Given the description of an element on the screen output the (x, y) to click on. 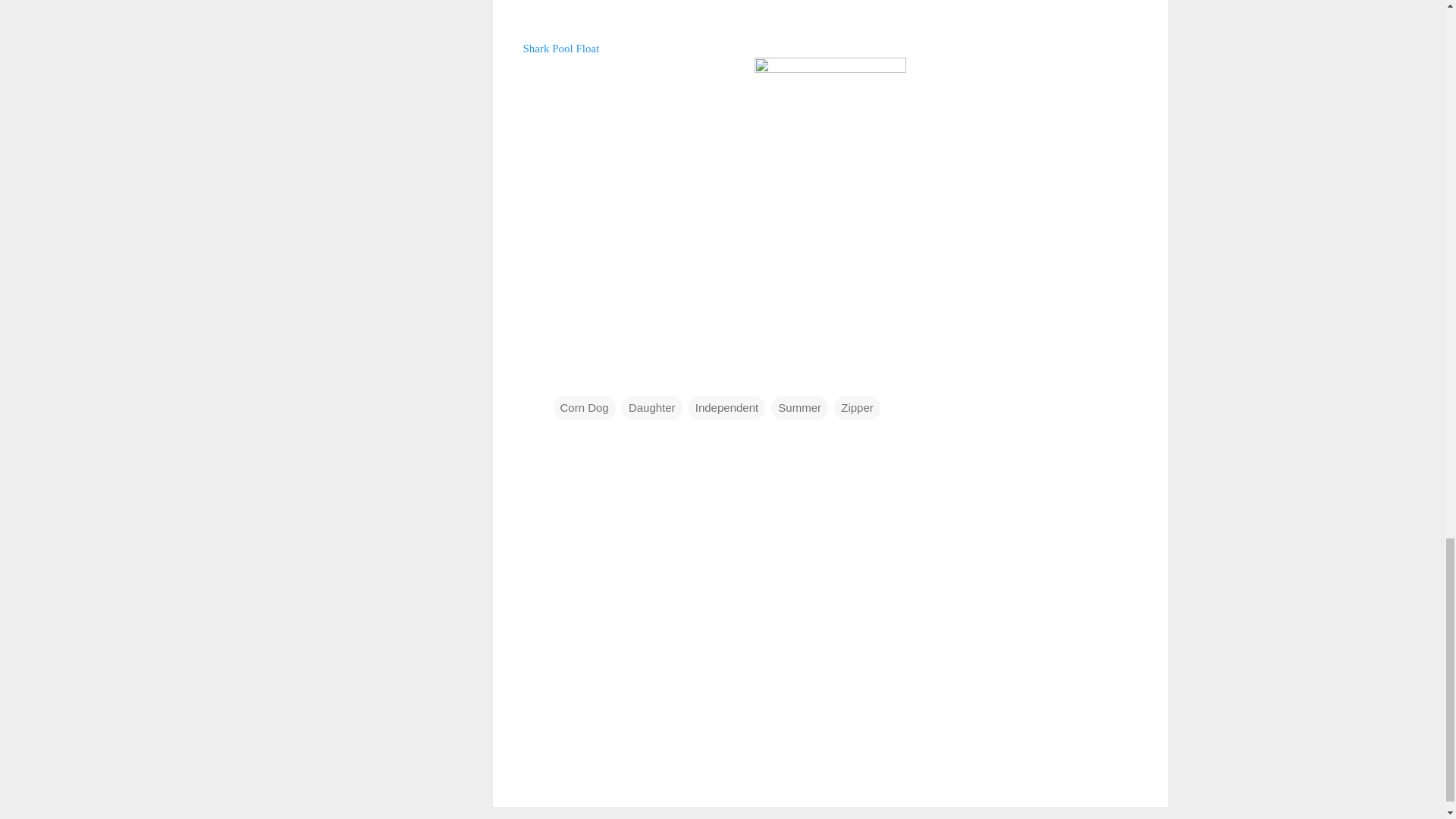
Zipper (857, 407)
Independent (726, 407)
Summer (799, 407)
Corn Dog (584, 407)
Shark Pool Float (560, 47)
Daughter (651, 407)
